Given the description of an element on the screen output the (x, y) to click on. 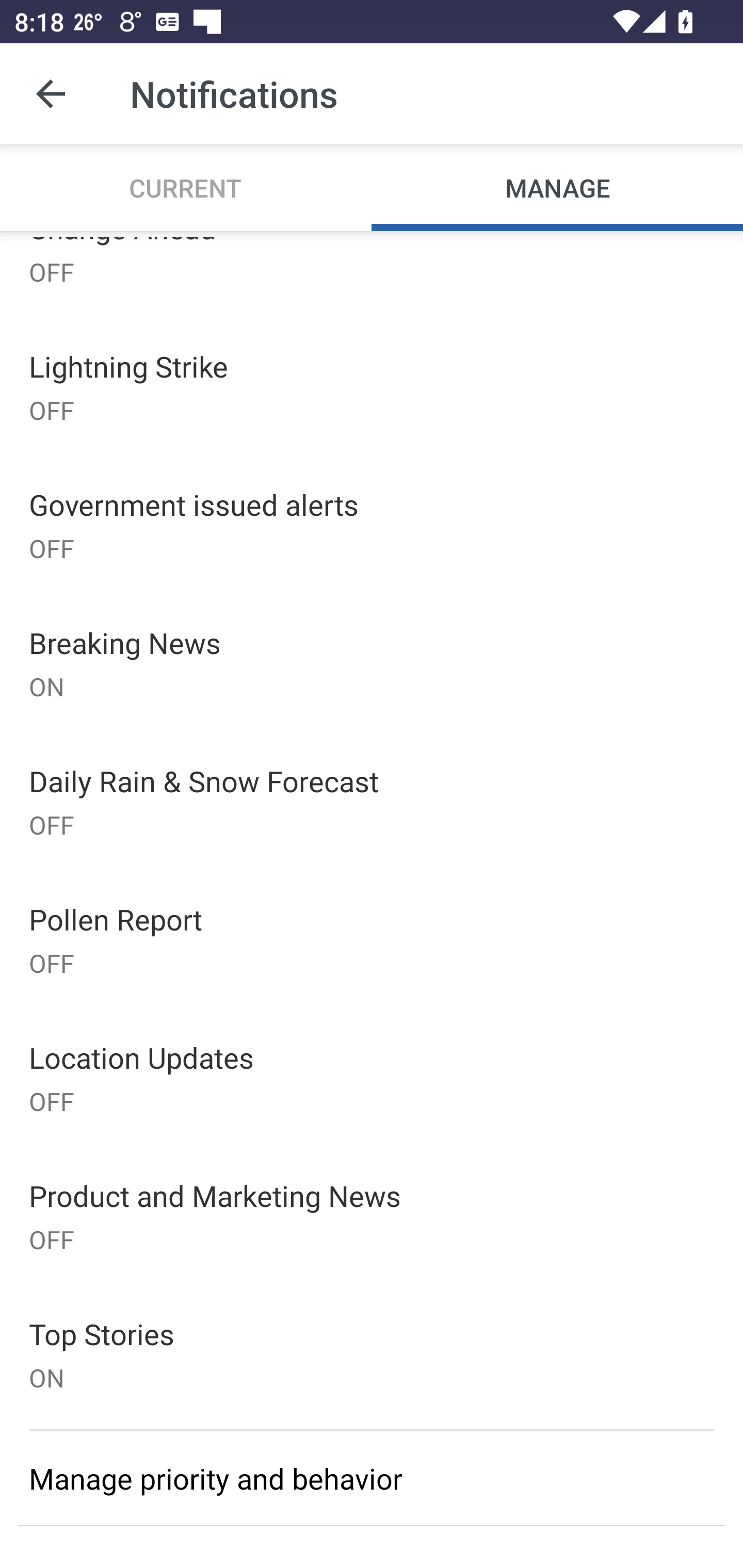
Navigate up (50, 93)
Current Tab CURRENT (185, 187)
Lightning Strike OFF (371, 387)
Government issued alerts OFF (371, 525)
Breaking News ON (371, 663)
Daily Rain & Snow Forecast OFF (371, 801)
Pollen Report OFF (371, 939)
Location Updates OFF (371, 1077)
Product and Marketing News OFF (371, 1216)
Top Stories ON (371, 1354)
Manage priority and behavior (371, 1478)
